Given the description of an element on the screen output the (x, y) to click on. 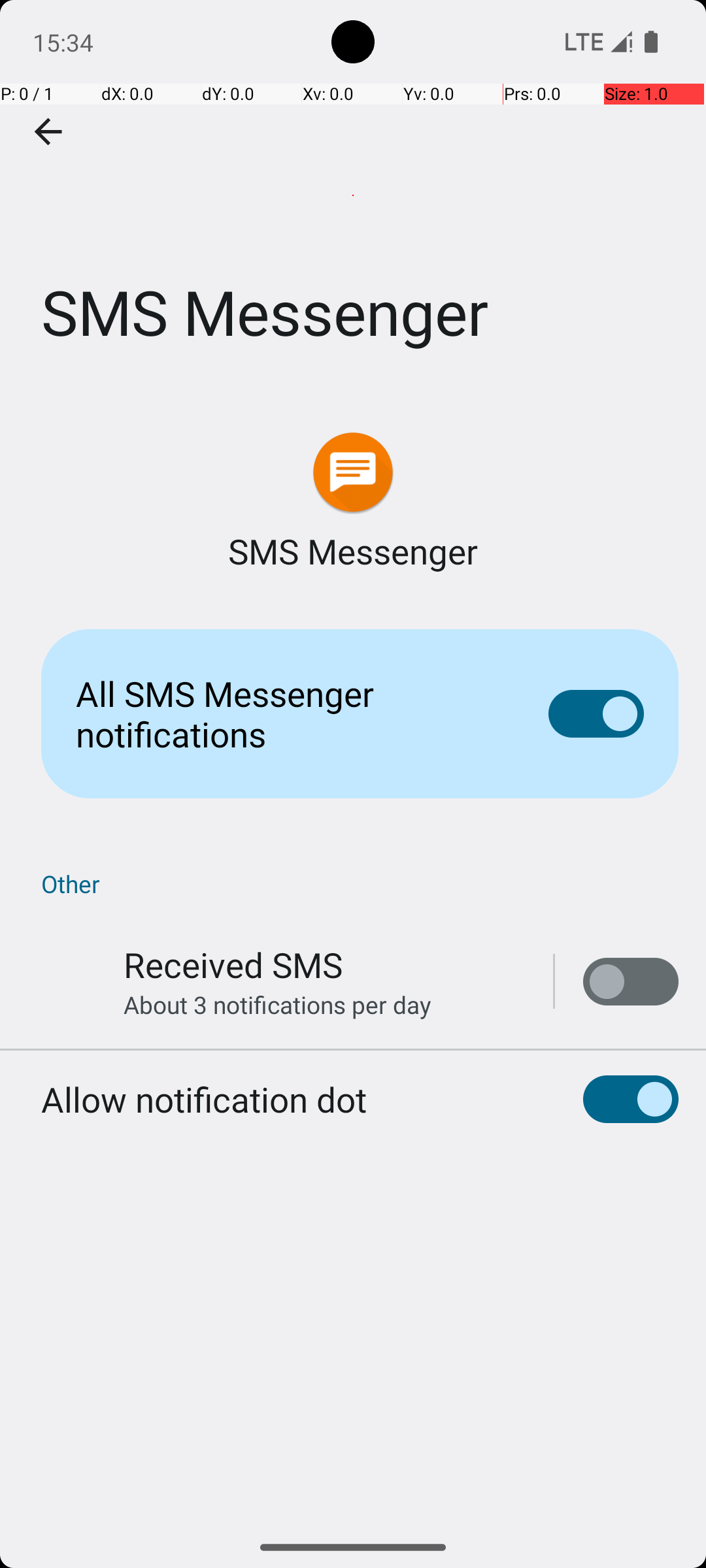
All SMS Messenger notifications Element type: android.widget.TextView (291, 713)
Received SMS Element type: android.widget.TextView (232, 964)
About 3 notifications per day Element type: android.widget.TextView (277, 1004)
Allow notification dot Element type: android.widget.TextView (203, 1099)
